Given the description of an element on the screen output the (x, y) to click on. 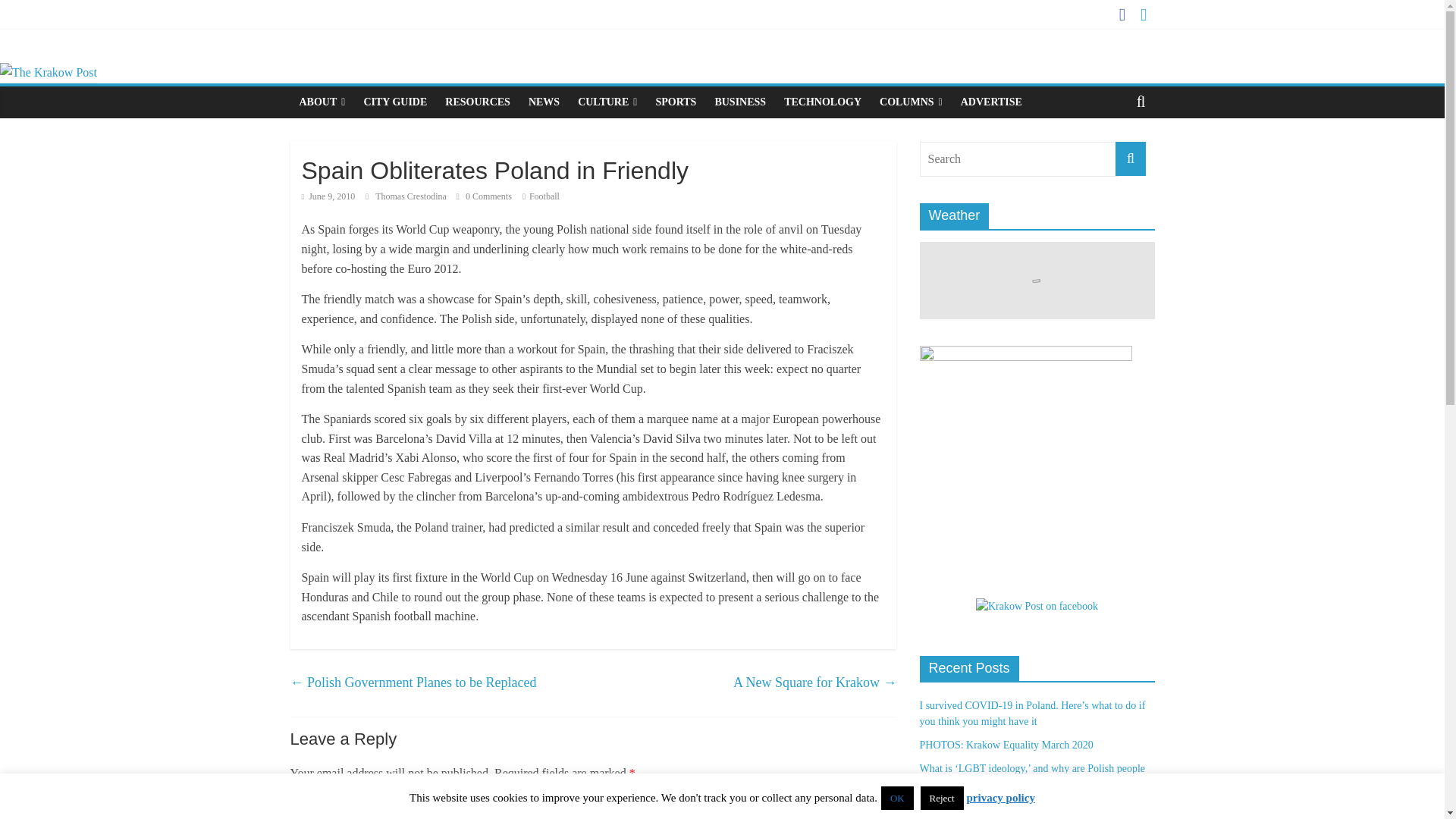
CULTURE (607, 101)
5:55 am (328, 195)
BUSINESS (739, 101)
TECHNOLOGY (822, 101)
RESOURCES (477, 101)
Thomas Crestodina (411, 195)
ABOUT (321, 101)
NEWS (544, 101)
The Krakow Post (48, 72)
CITY GUIDE (394, 101)
